Given the description of an element on the screen output the (x, y) to click on. 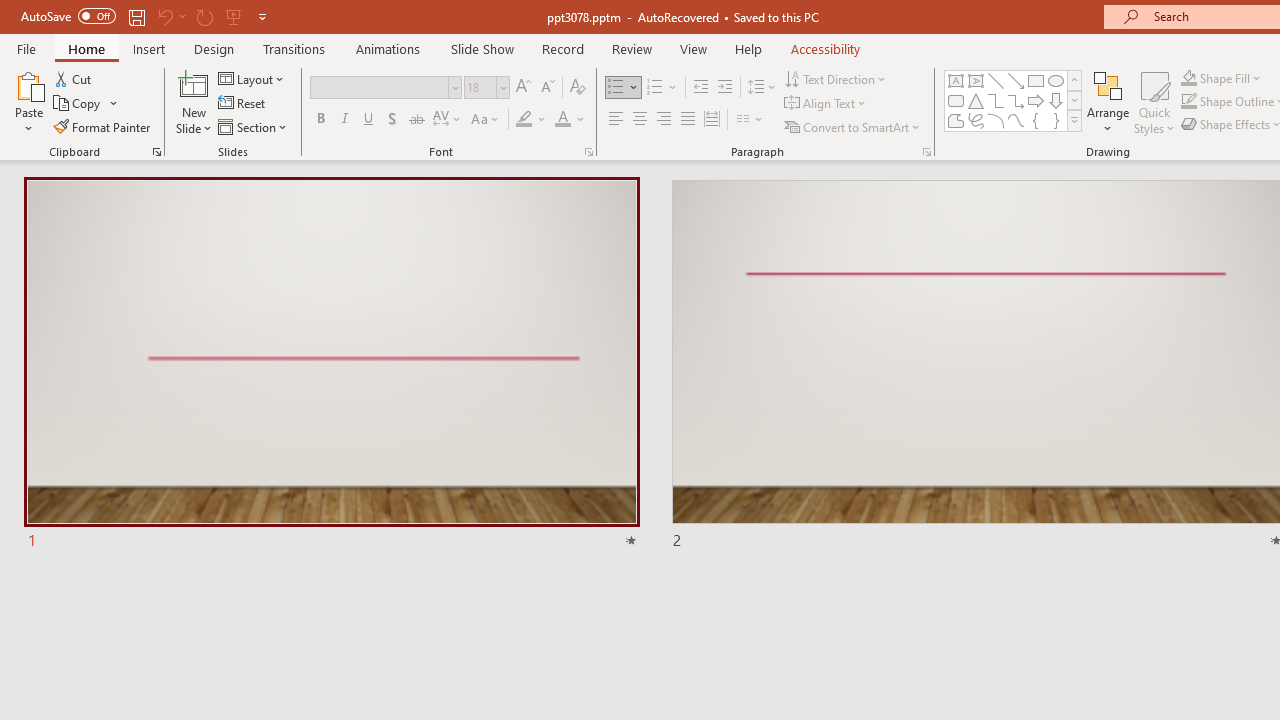
Shape Fill Dark Green, Accent 2 (1188, 78)
